Given the description of an element on the screen output the (x, y) to click on. 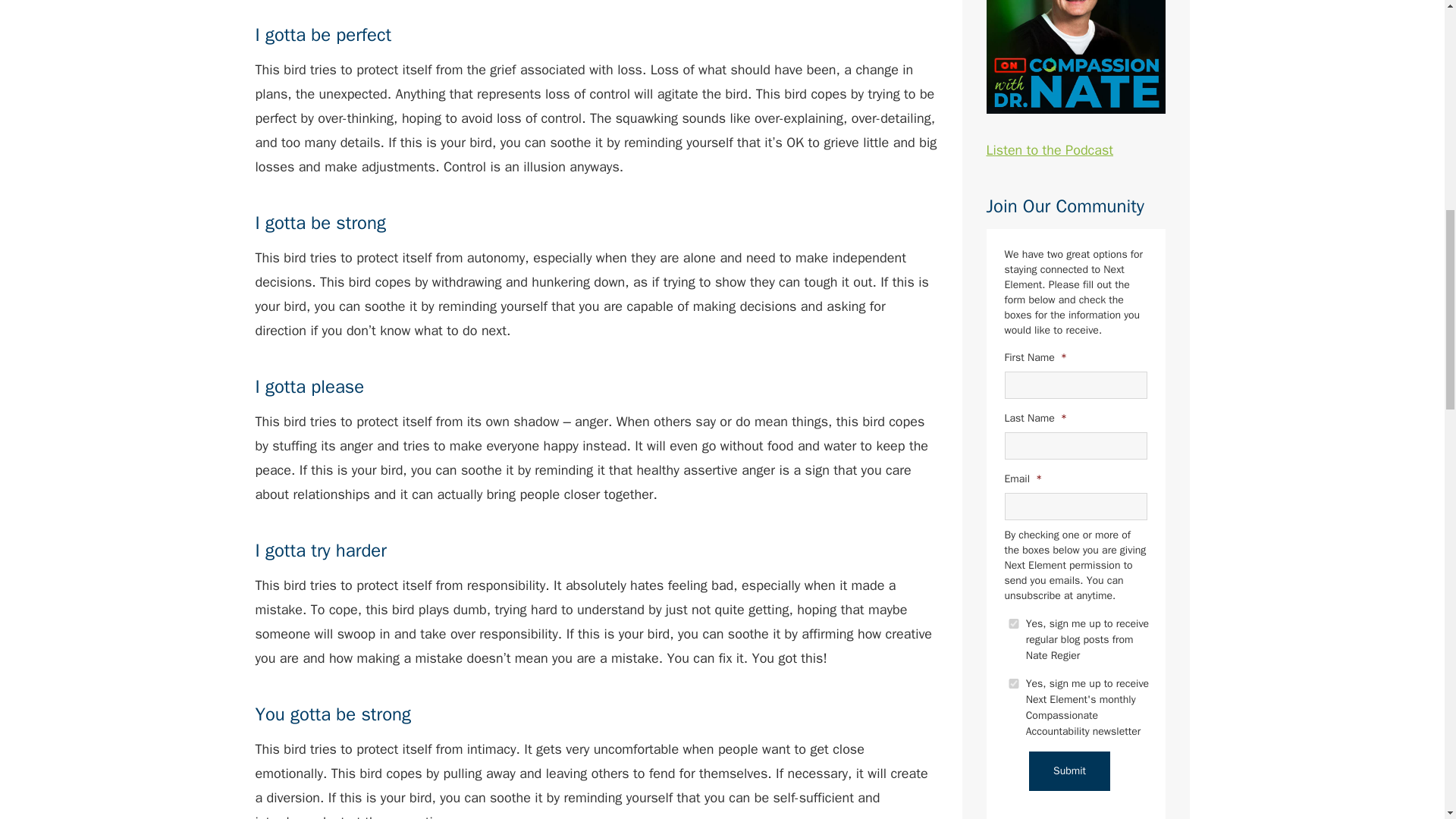
Listen to the Podcast (1074, 79)
Compassion at Work (1013, 683)
Blog (1013, 623)
Submit (1069, 771)
